Given the description of an element on the screen output the (x, y) to click on. 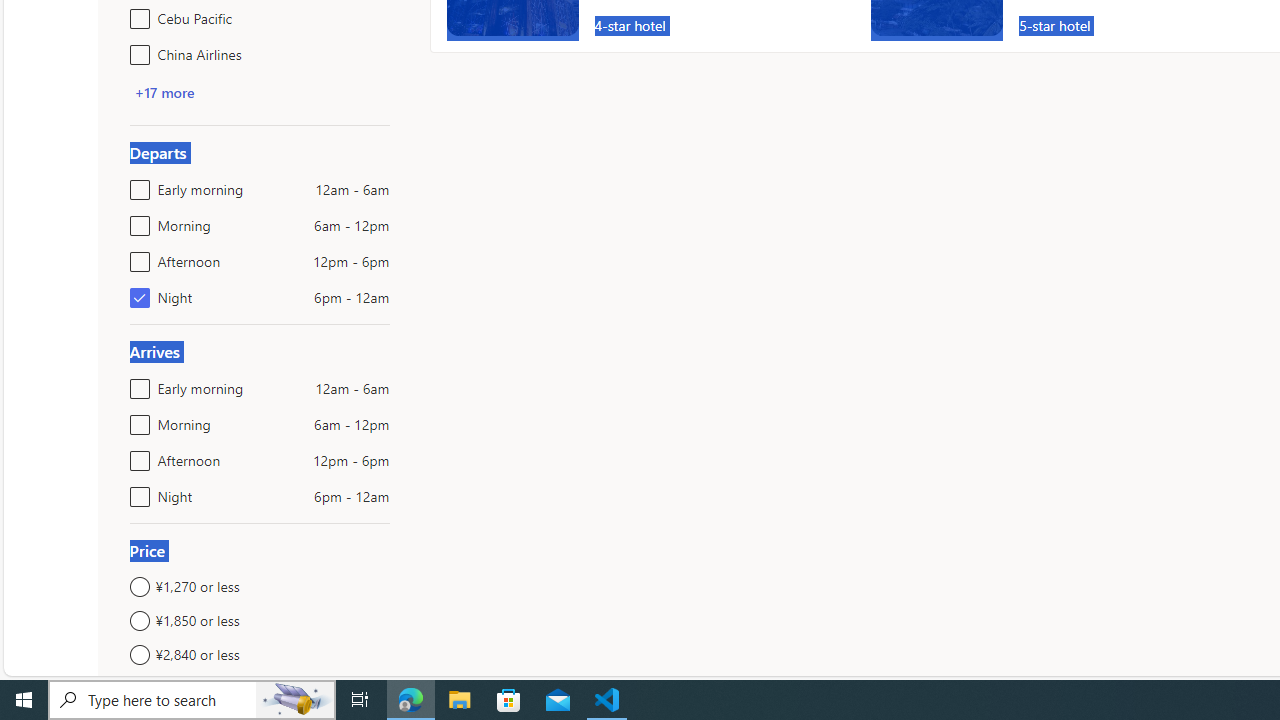
Night6pm - 12am (136, 492)
China Airlines (136, 50)
Any price (259, 688)
Cebu Pacific (136, 14)
Morning6am - 12pm (136, 420)
+17 more (164, 92)
Afternoon12pm - 6pm (136, 456)
Early morning12am - 6am (136, 384)
